Given the description of an element on the screen output the (x, y) to click on. 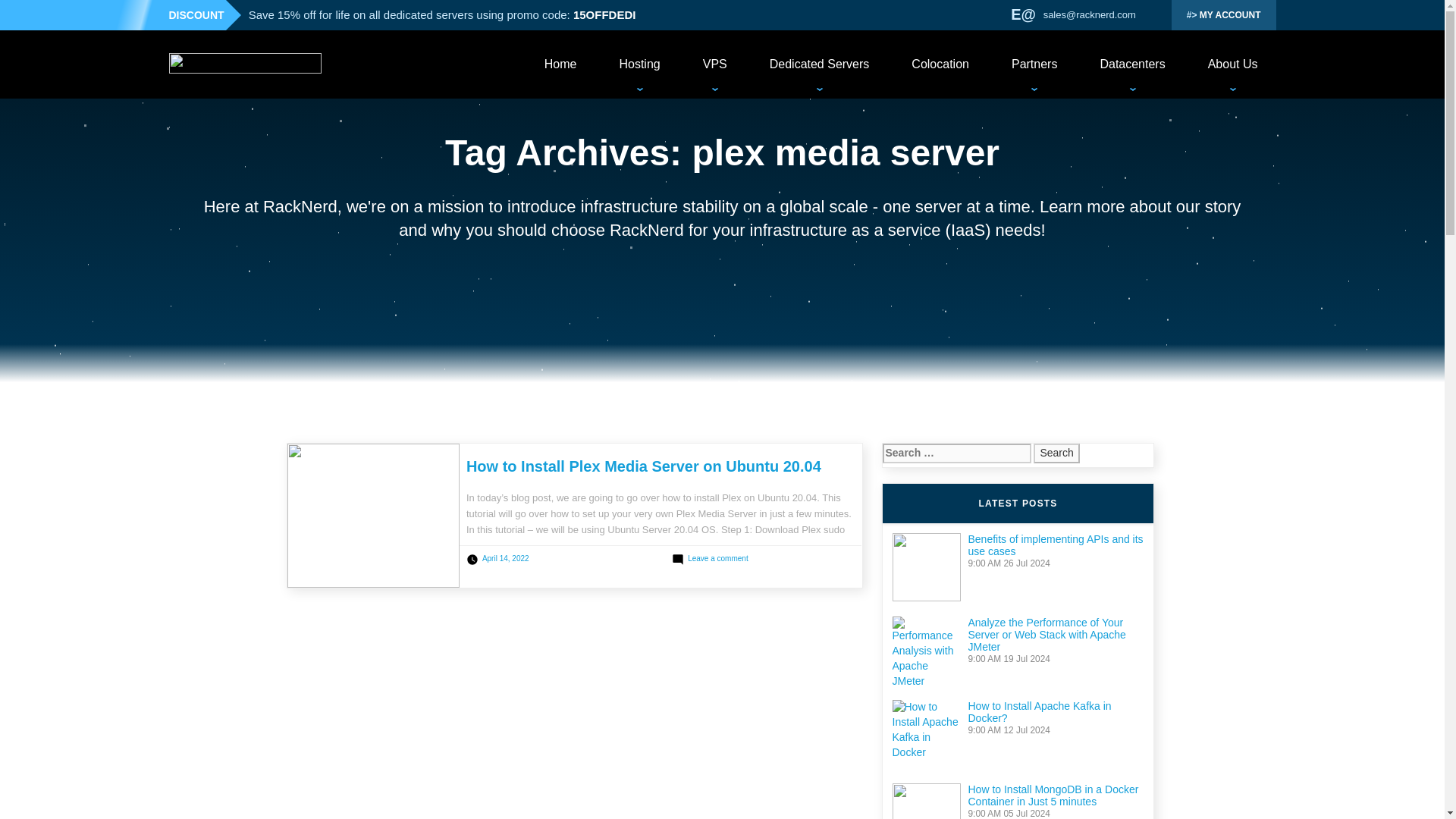
Search (1055, 453)
Partners (1033, 63)
Hosting (638, 63)
Hosting (638, 63)
Datacenters (1131, 63)
Dedicated Servers (819, 63)
Dedicated Servers (819, 63)
Colocation (940, 63)
Home (560, 63)
VPS (714, 63)
VPS (714, 63)
Home (560, 63)
Search (1055, 453)
About Us (1232, 63)
MY ACCOUNT (1224, 15)
